Given the description of an element on the screen output the (x, y) to click on. 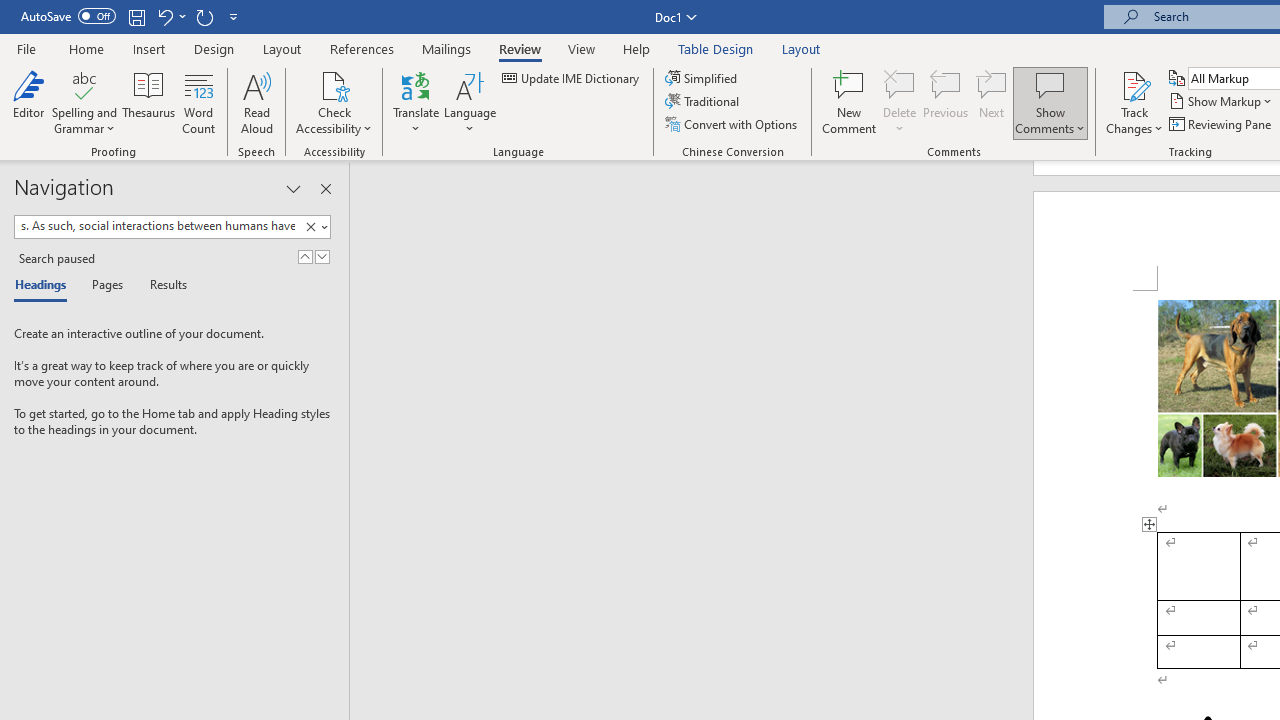
Editor (28, 102)
View (582, 48)
System (10, 11)
Previous (946, 102)
Check Accessibility (334, 84)
Update IME Dictionary... (572, 78)
Home (86, 48)
Search document (157, 226)
Delete (900, 102)
Customize Quick Access Toolbar (234, 15)
Mailings (447, 48)
References (362, 48)
Next Result (322, 256)
Close pane (325, 188)
